Given the description of an element on the screen output the (x, y) to click on. 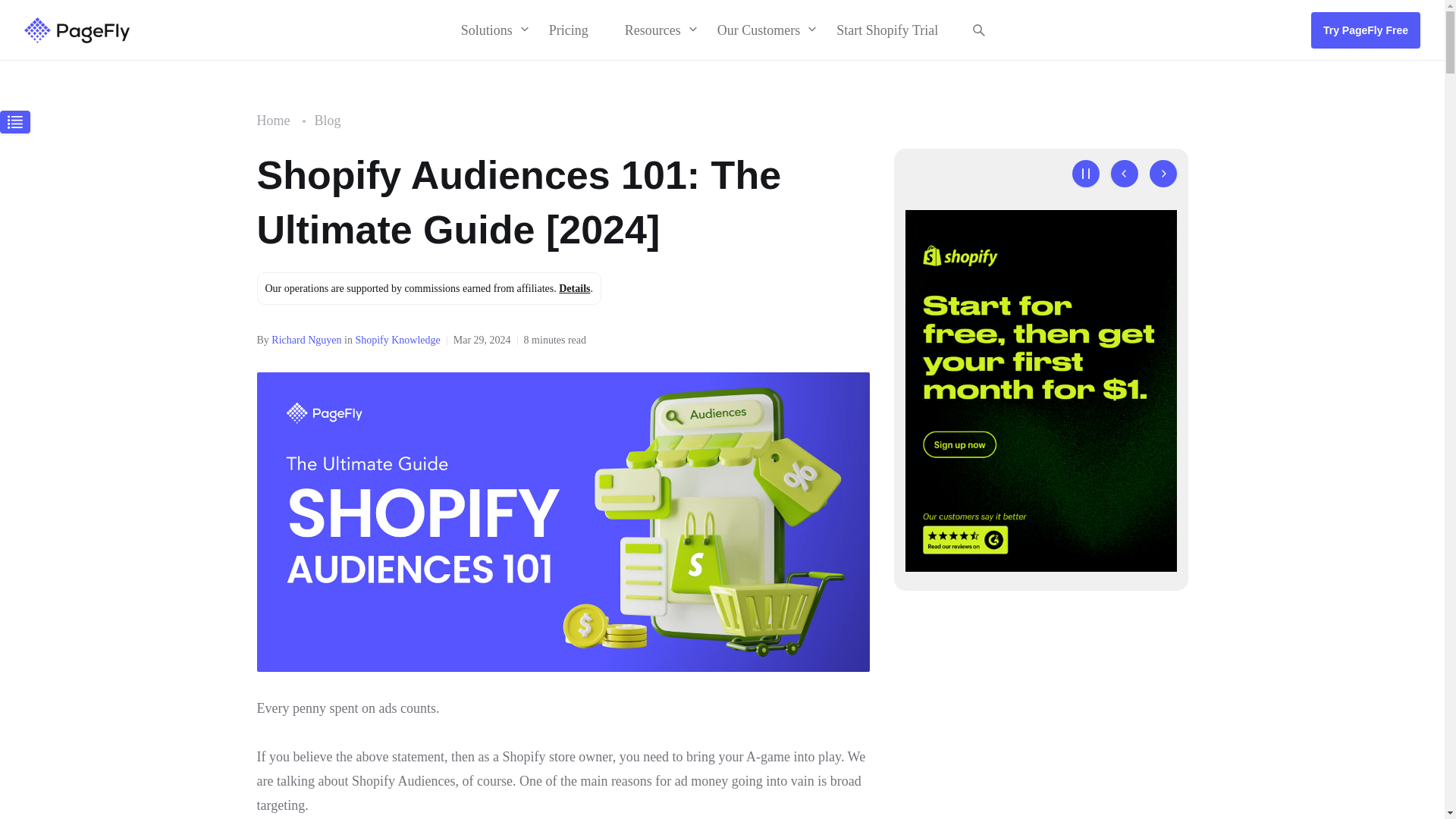
Pricing (569, 29)
Affiliate Disclosure (574, 288)
Solutions (486, 29)
Our Customers (758, 29)
Resources (652, 29)
